Given the description of an element on the screen output the (x, y) to click on. 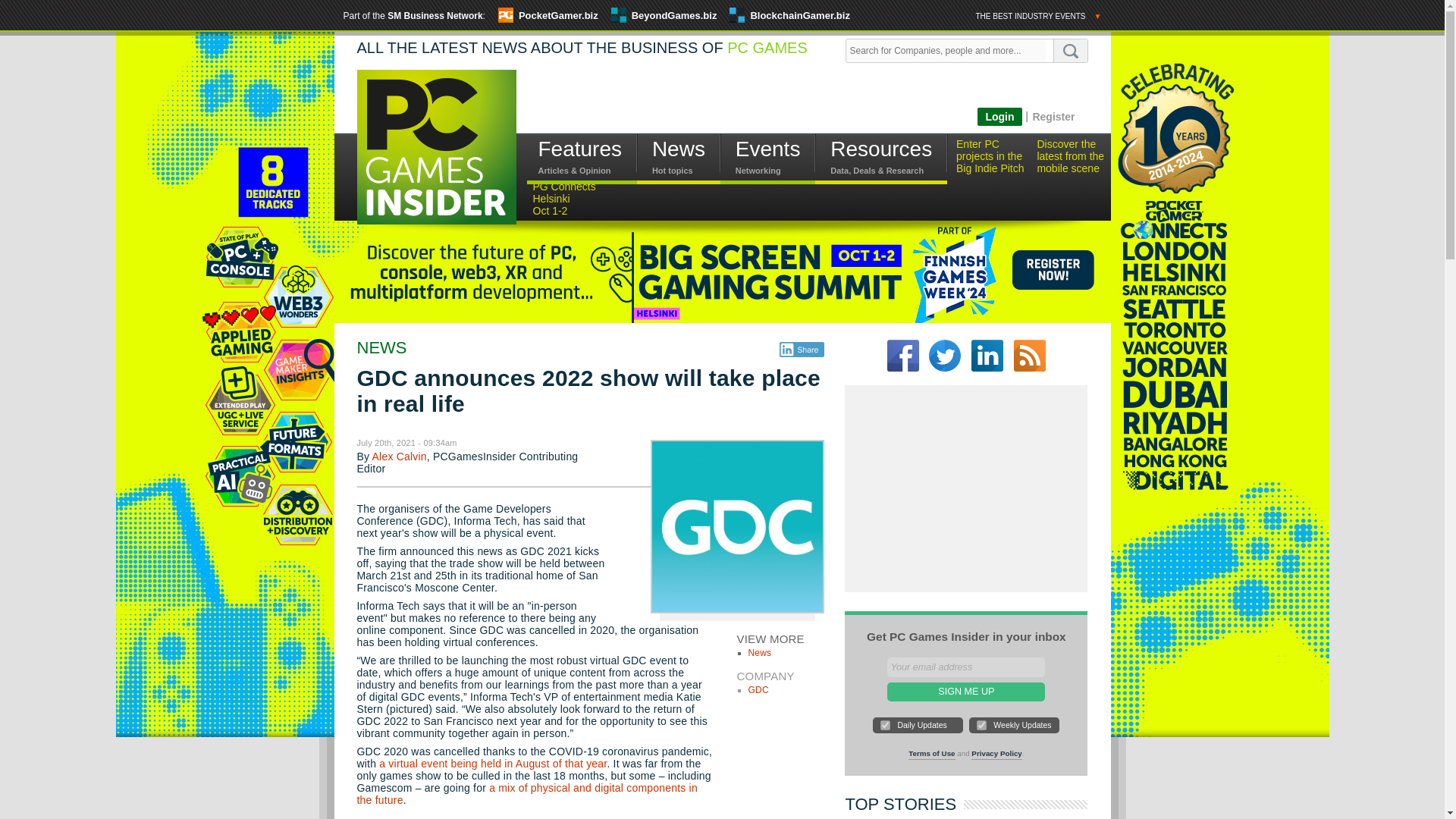
PC Games Insider (435, 146)
Login (999, 116)
SIGN ME UP (965, 691)
3rd party ad content (801, 103)
1 (884, 725)
2 (981, 725)
Register (1053, 116)
PC Games Insider (435, 159)
